Given the description of an element on the screen output the (x, y) to click on. 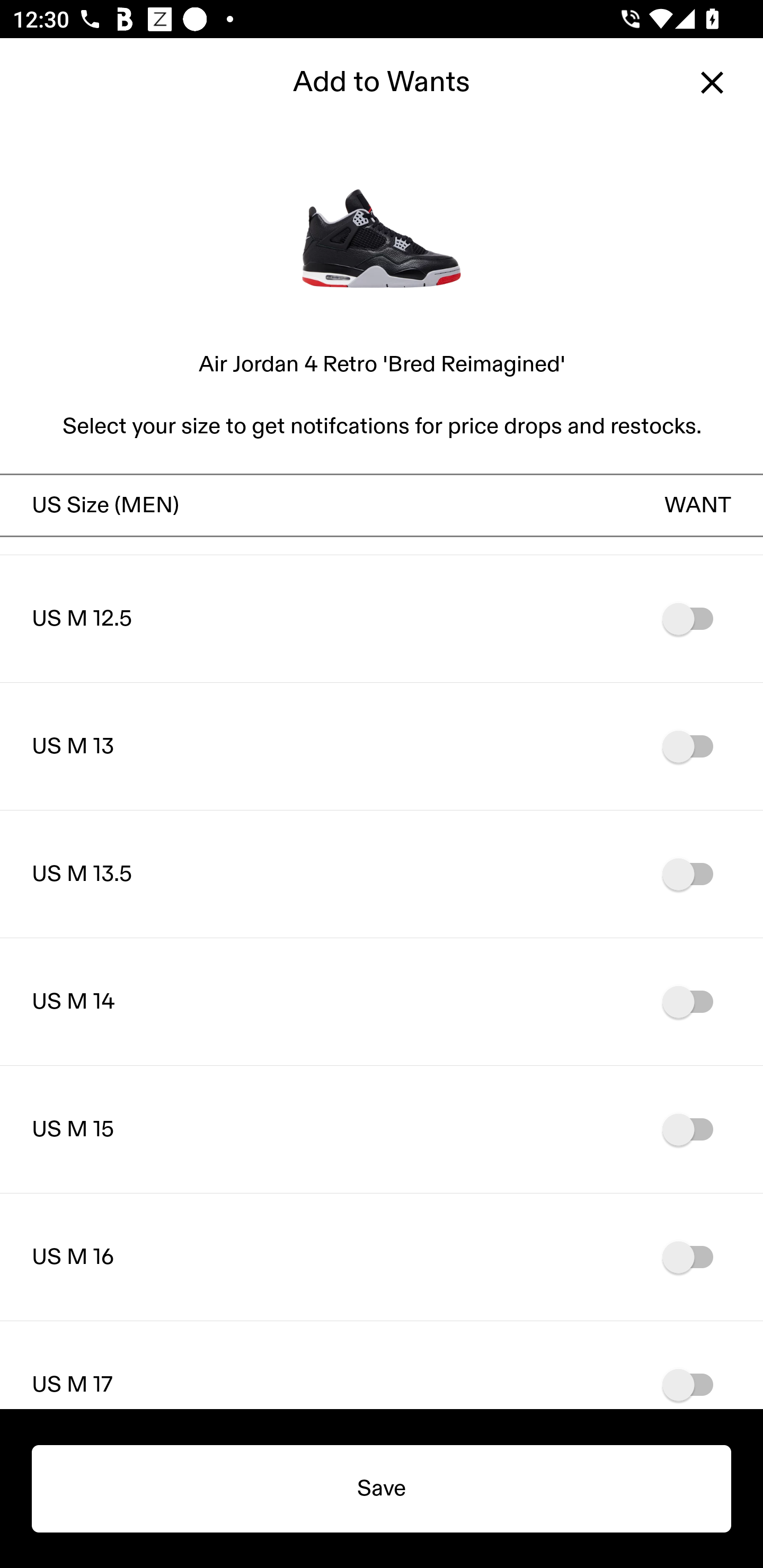
Save (381, 1488)
